Given the description of an element on the screen output the (x, y) to click on. 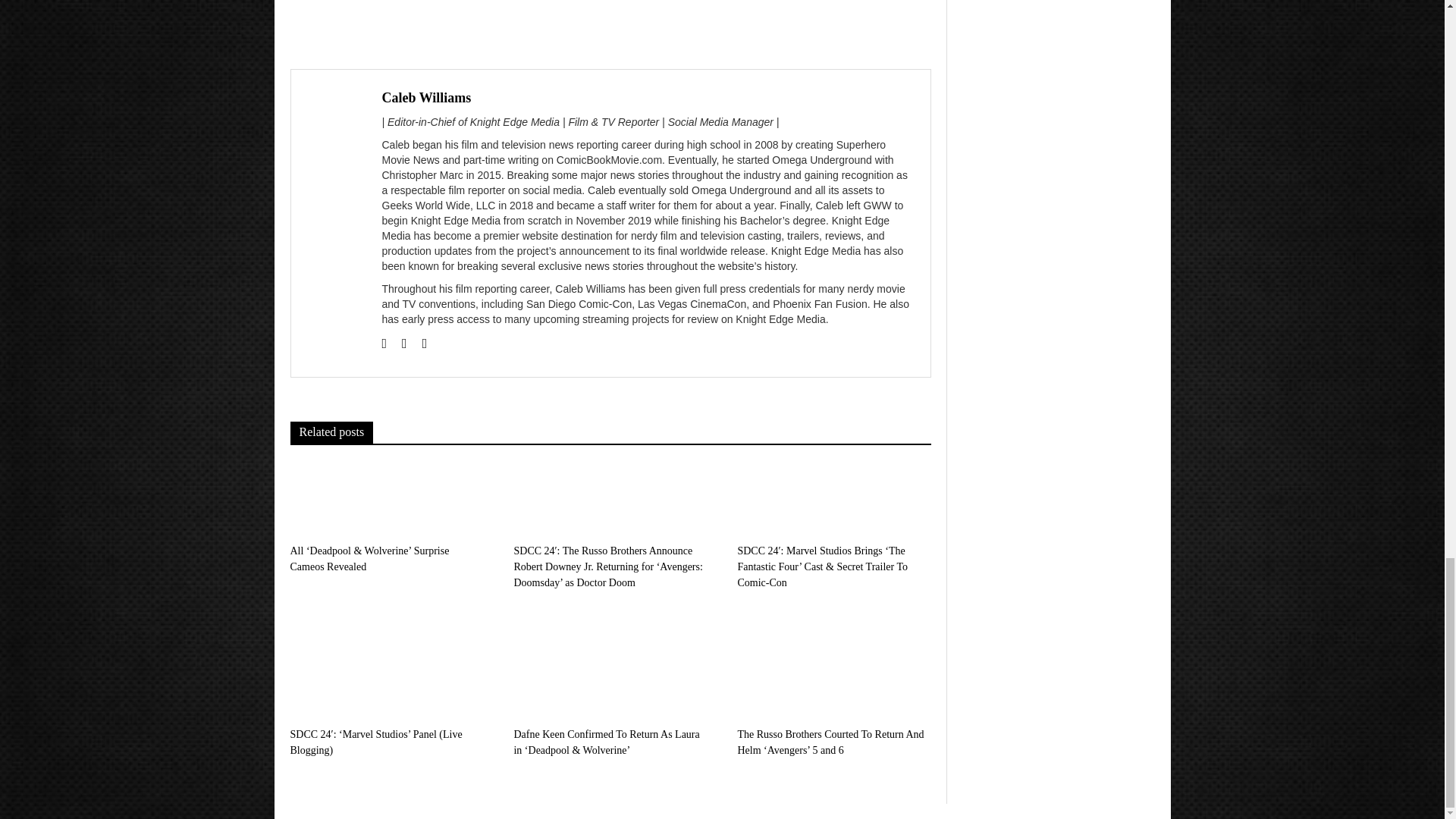
Posts by Caleb Williams (426, 97)
